Given the description of an element on the screen output the (x, y) to click on. 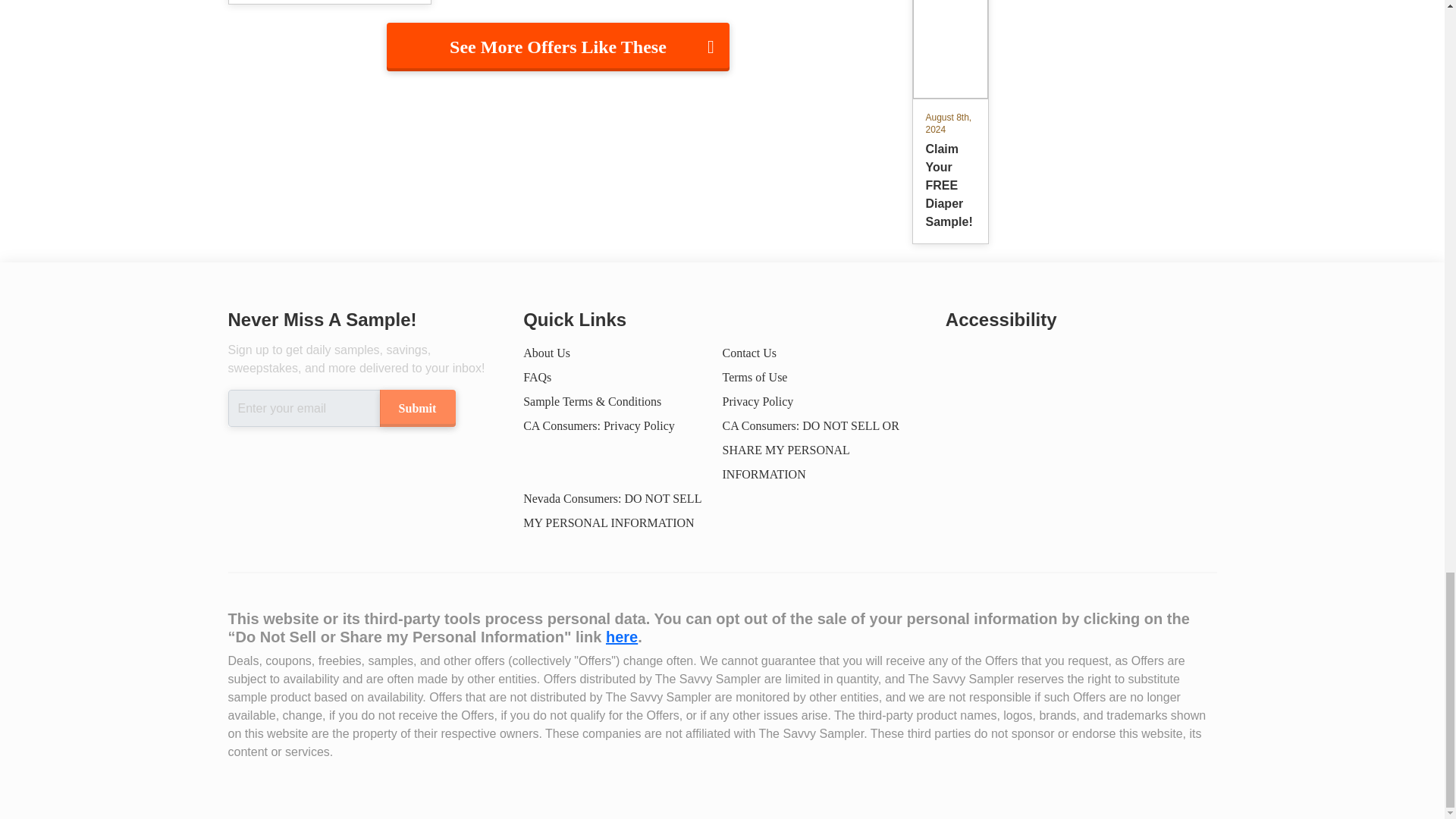
Nevada Consumers: DO NOT SELL MY PERSONAL INFORMATION (611, 510)
Privacy Policy (757, 400)
About Us (546, 352)
See More Offers Like These (558, 46)
FAQs (536, 377)
here (621, 636)
Contact Us (749, 352)
CA Consumers: DO NOT SELL OR SHARE MY PERSONAL INFORMATION (810, 449)
Terms of Use (754, 377)
